Given the description of an element on the screen output the (x, y) to click on. 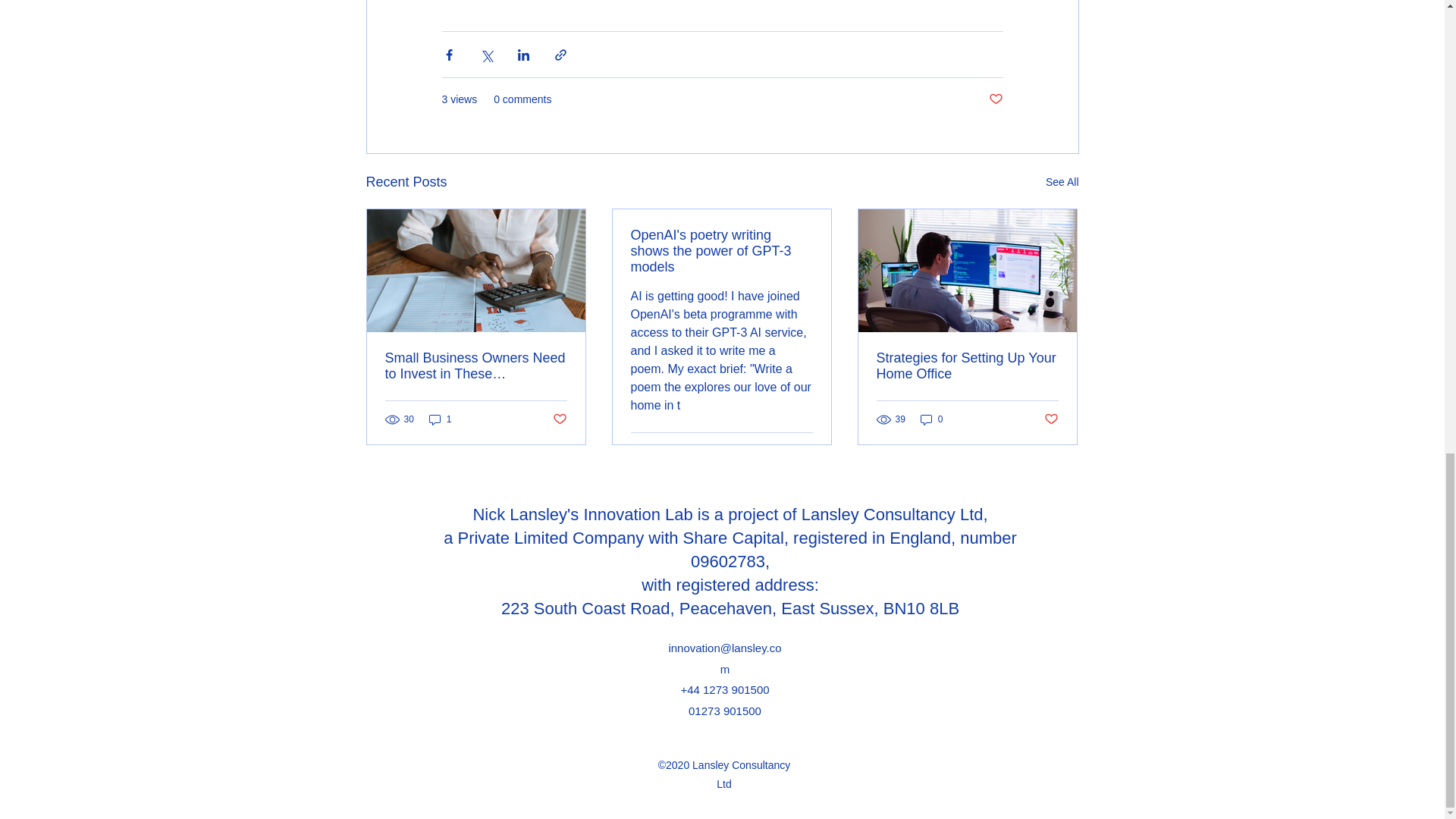
Post not marked as liked (995, 99)
Small Business Owners Need to Invest in These Technologies (476, 366)
See All (1061, 182)
1 (440, 418)
Post not marked as liked (558, 419)
OpenAI's poetry writing shows the power of GPT-3 models (721, 251)
